Given the description of an element on the screen output the (x, y) to click on. 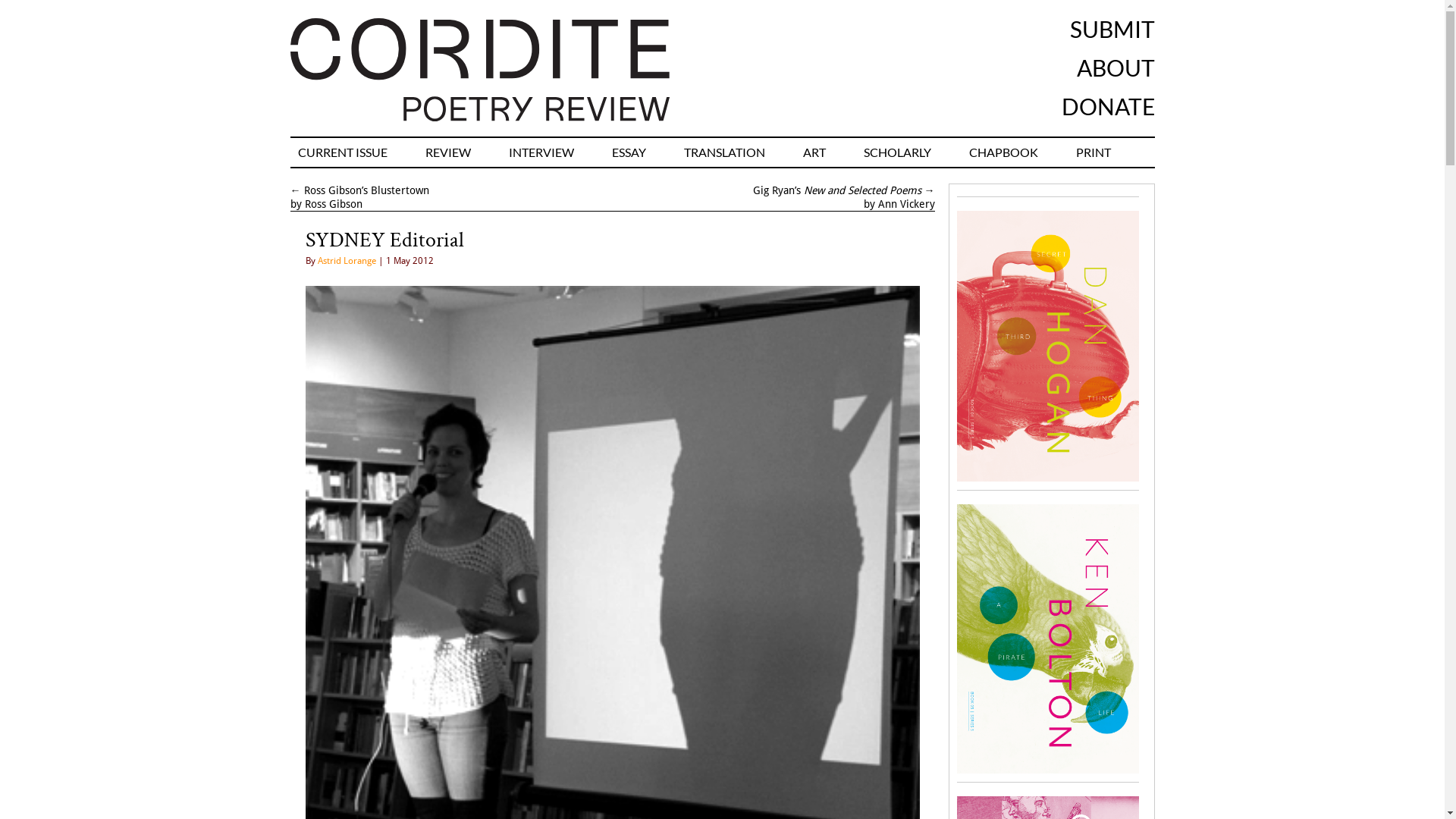
TRANSLATION Element type: text (724, 152)
CHAPBOOK Element type: text (1003, 152)
REVIEW Element type: text (447, 152)
ESSAY Element type: text (627, 152)
Astrid Lorange Element type: text (345, 260)
PRINT Element type: text (1092, 152)
ART Element type: text (813, 152)
CURRENT ISSUE Element type: text (341, 152)
SUBMIT Element type: text (1111, 28)
ABOUT Element type: text (1115, 67)
INTERVIEW Element type: text (540, 152)
DONATE Element type: text (1107, 105)
SCHOLARLY Element type: text (896, 152)
